Given the description of an element on the screen output the (x, y) to click on. 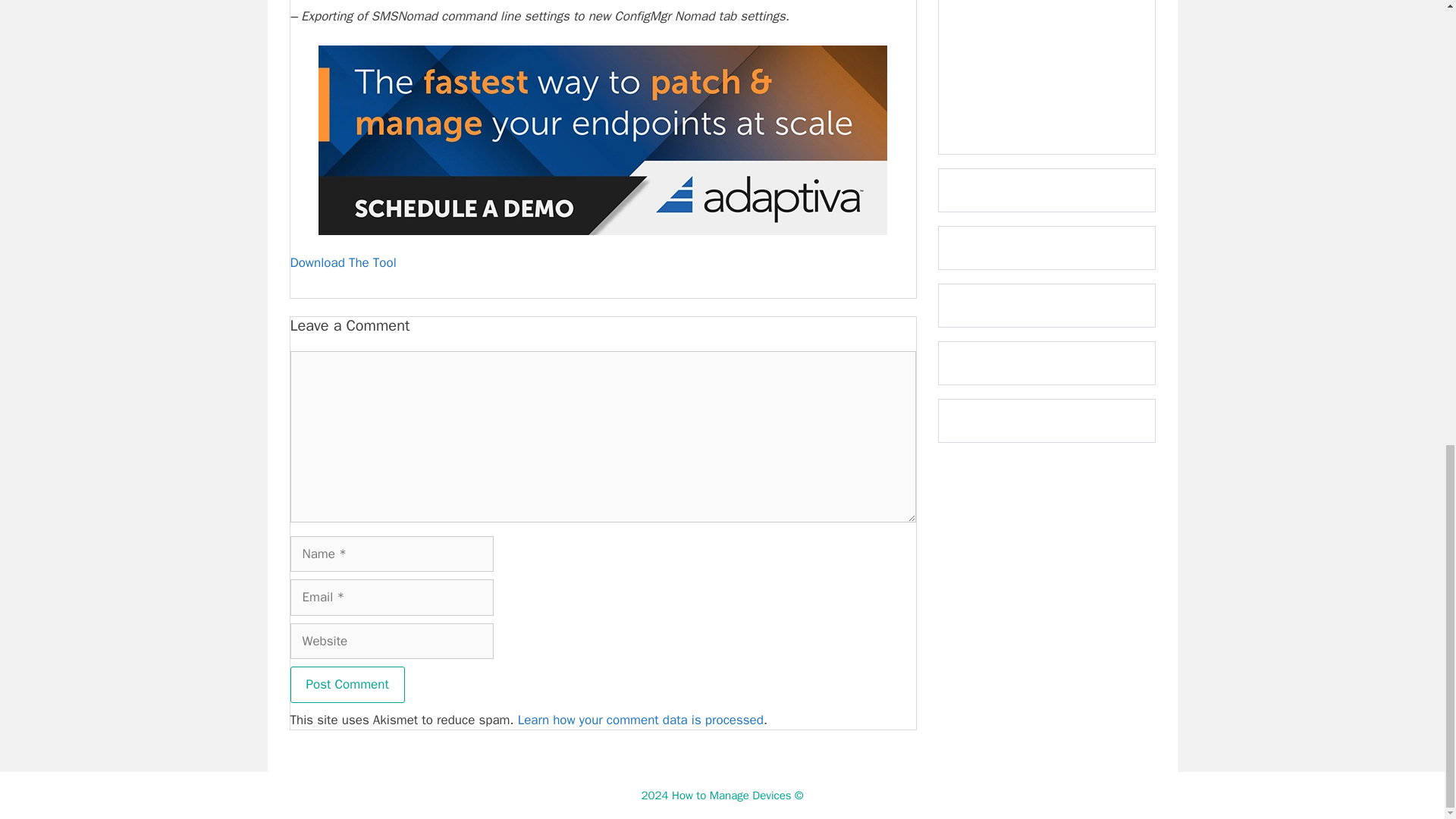
Post Comment (346, 684)
Learn how your comment data is processed (640, 719)
Advertisement (1046, 66)
Post Comment (346, 684)
Download The Tool (342, 262)
